Given the description of an element on the screen output the (x, y) to click on. 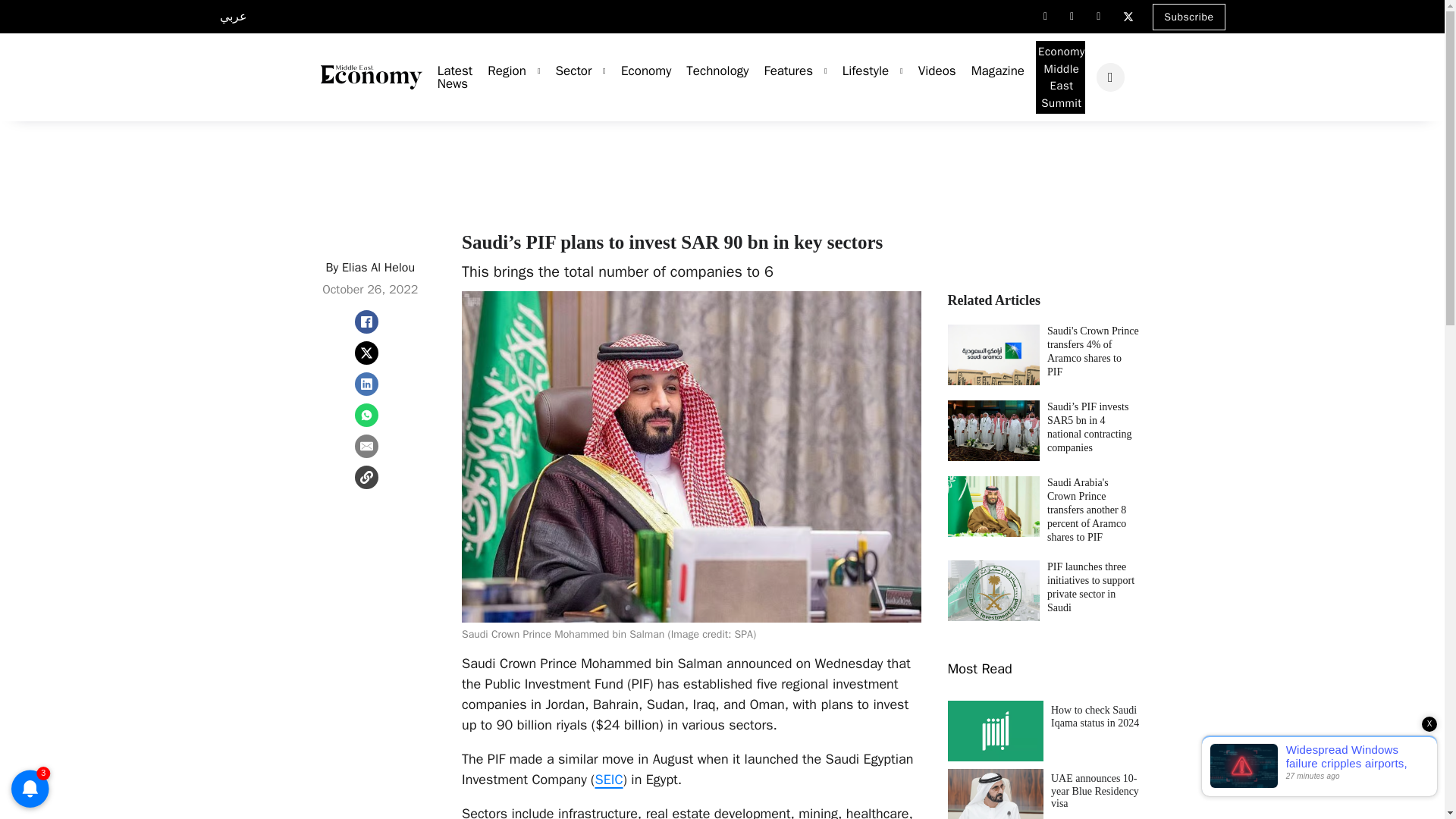
Latest News (447, 77)
Technology (709, 70)
Subscribe (1188, 16)
Sector (566, 70)
Economy (638, 70)
Twitter (1128, 16)
Region (498, 70)
Economy Middle East (371, 77)
Features (781, 70)
